Given the description of an element on the screen output the (x, y) to click on. 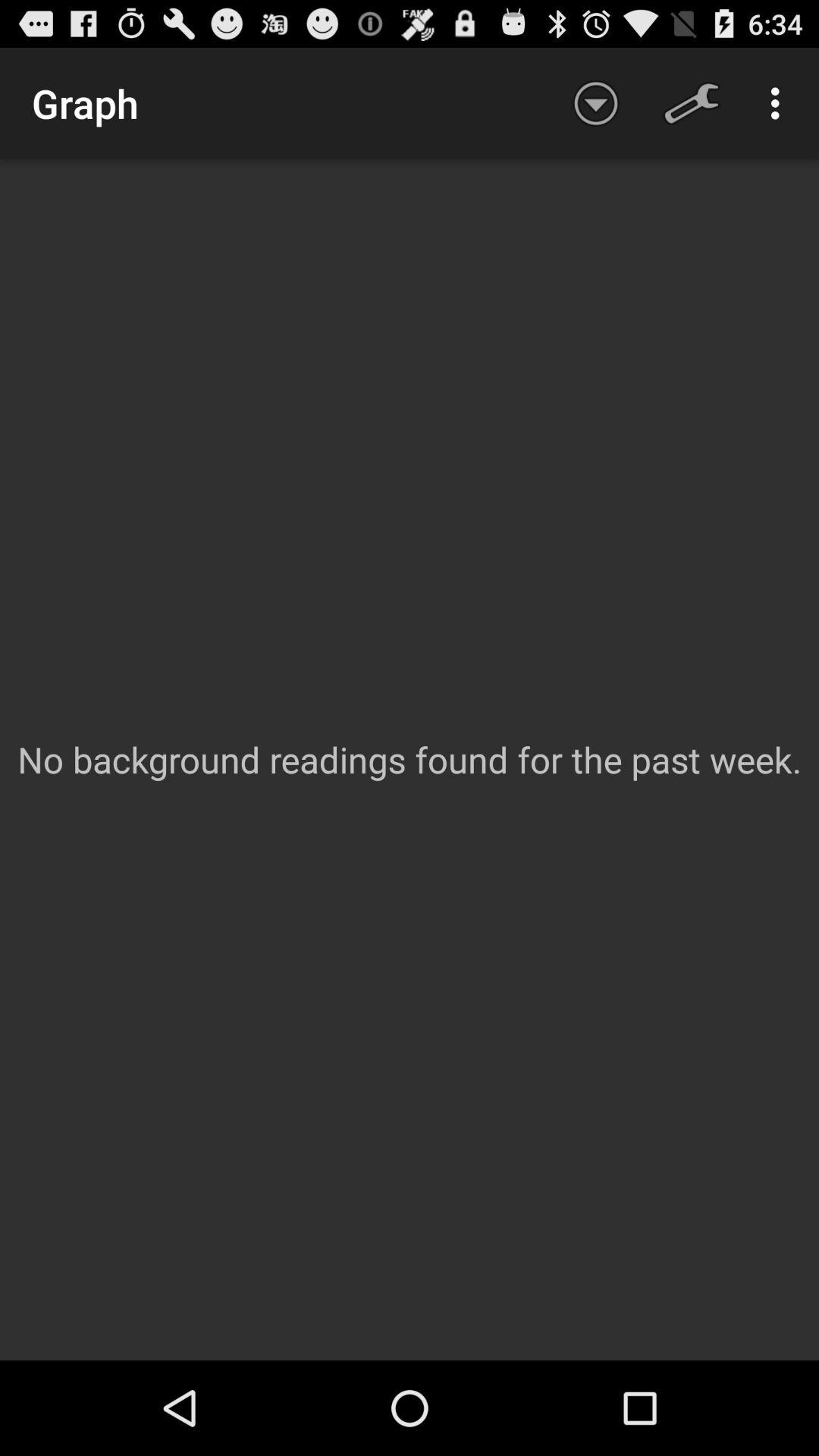
turn off icon above no background readings app (595, 103)
